Given the description of an element on the screen output the (x, y) to click on. 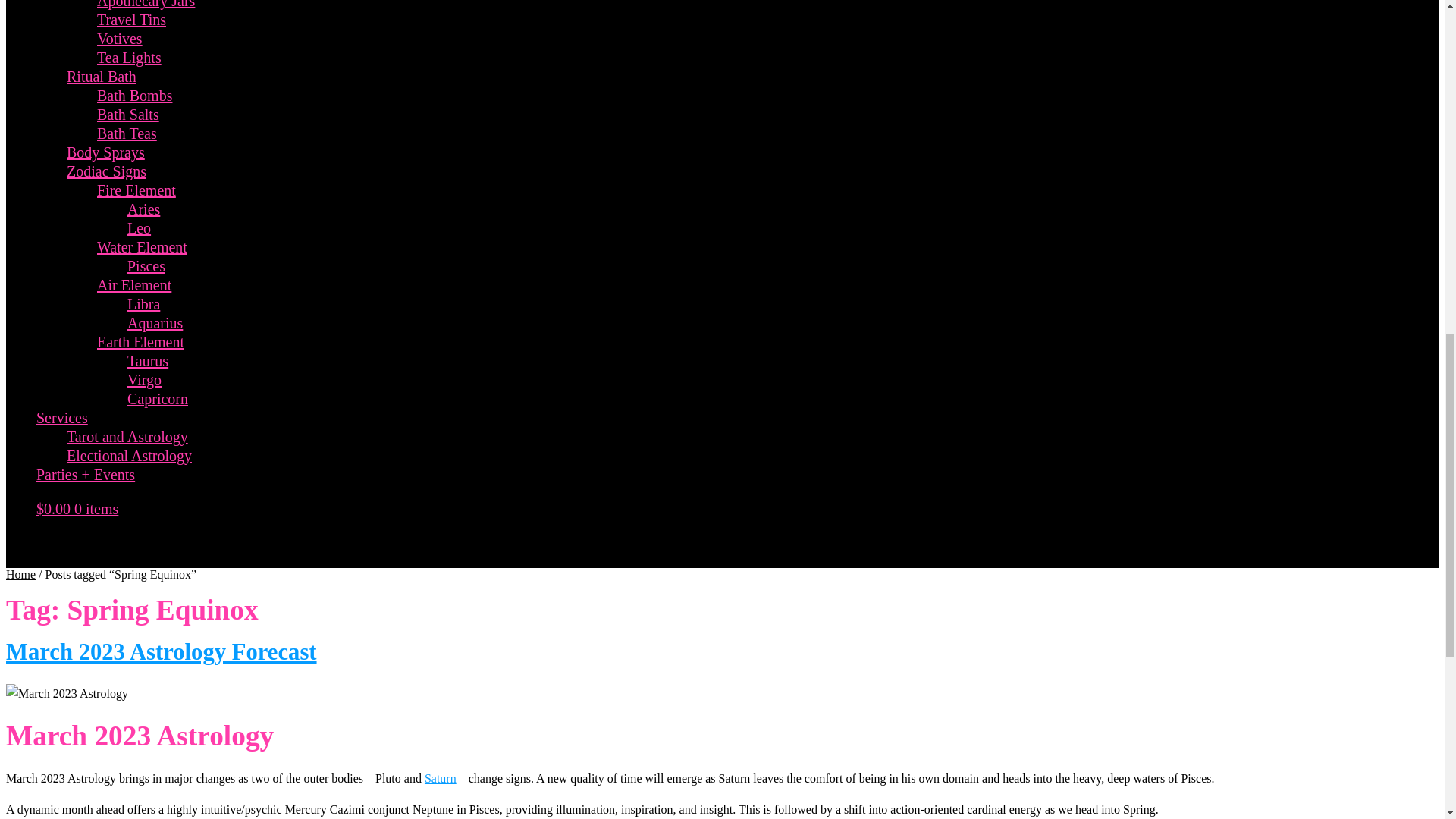
View your shopping cart (76, 508)
